Given the description of an element on the screen output the (x, y) to click on. 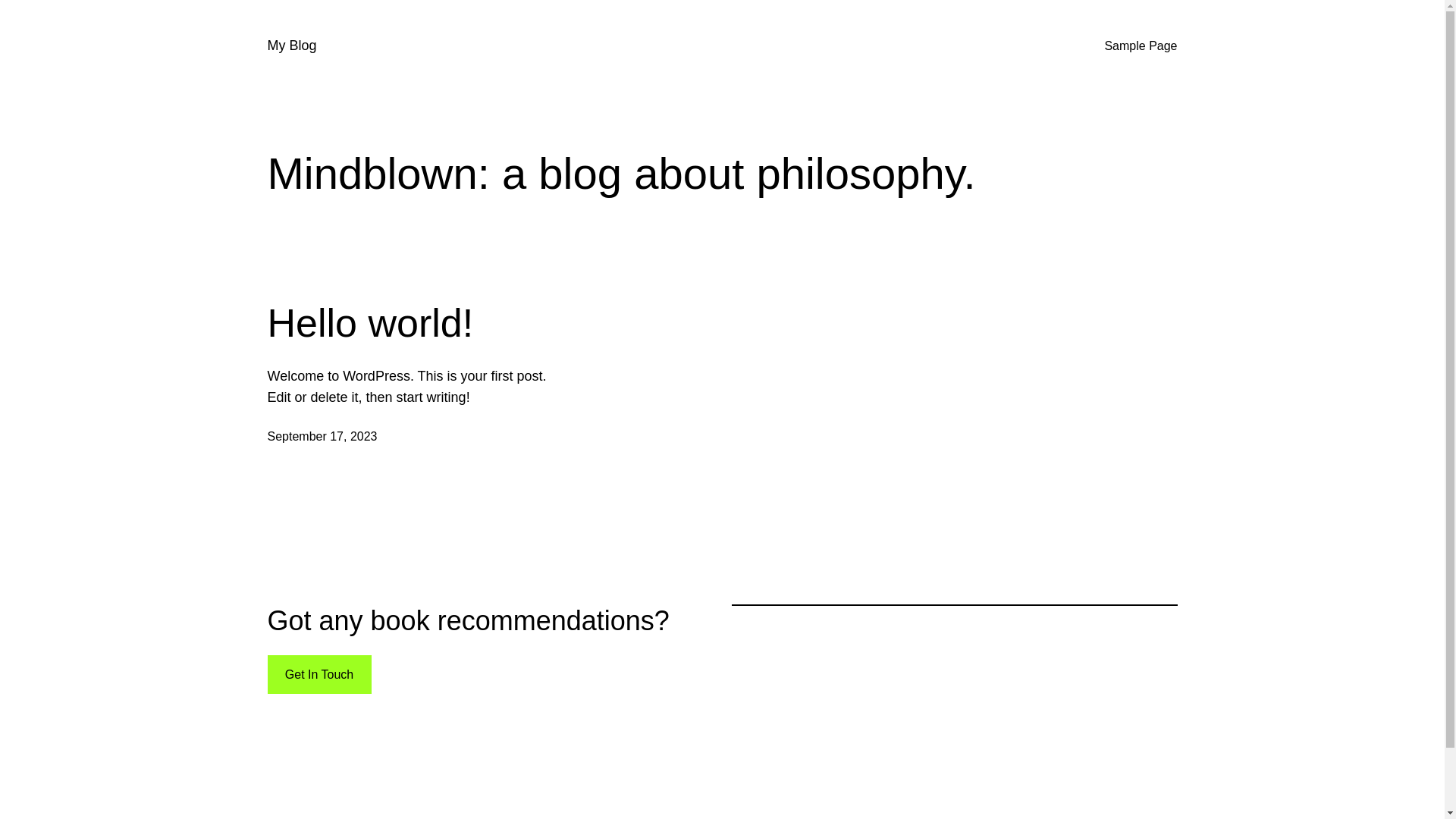
Get In Touch Element type: text (318, 674)
Hello world! Element type: text (369, 322)
September 17, 2023 Element type: text (321, 435)
My Blog Element type: text (291, 45)
Sample Page Element type: text (1140, 46)
